Given the description of an element on the screen output the (x, y) to click on. 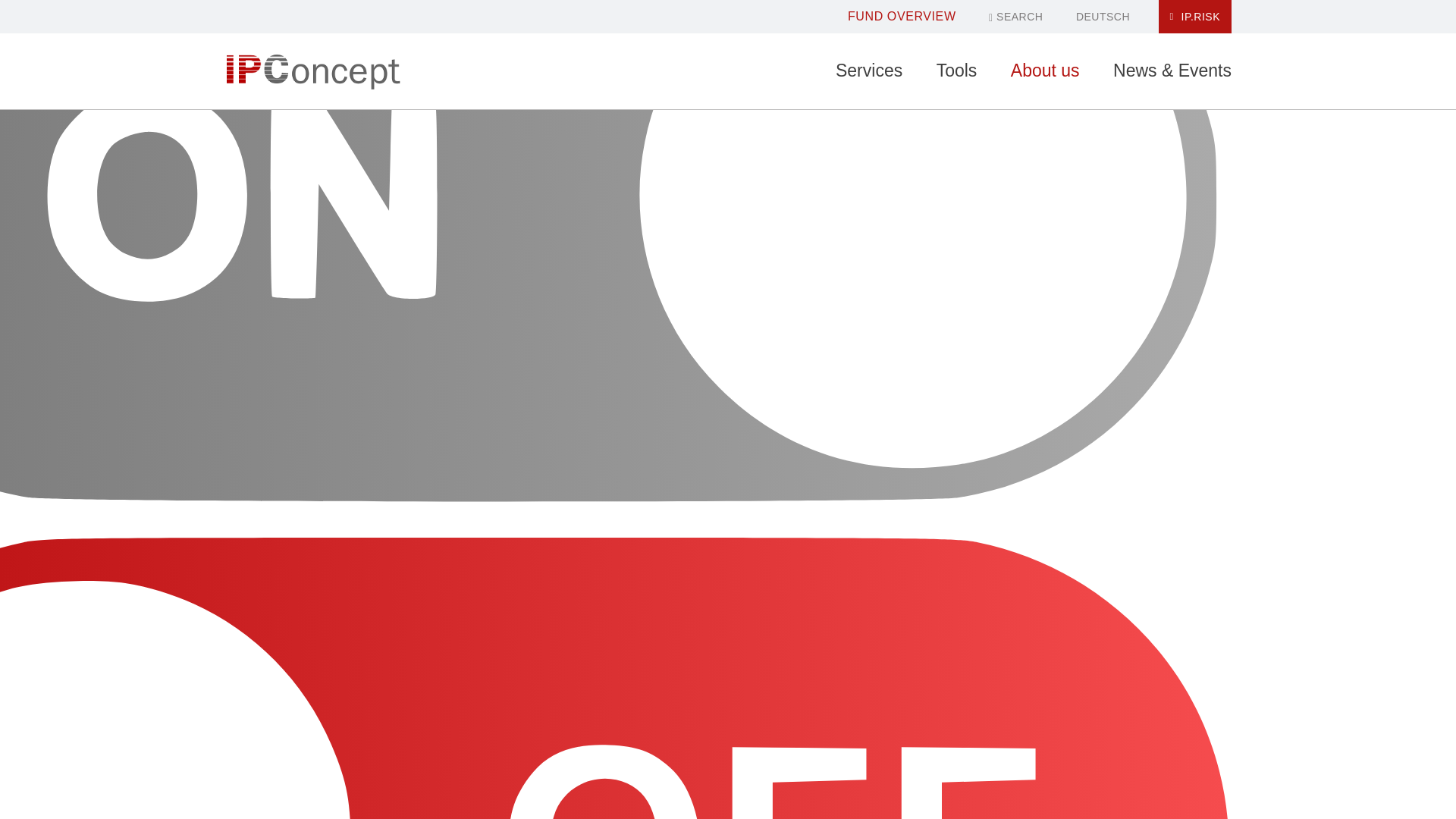
Weiterleitung zum Login-Bereich (1194, 16)
DEUTSCH (1102, 16)
FUND OVERVIEW (901, 15)
Fund Overview (901, 15)
Change language (1102, 16)
IP.RISK (1194, 16)
Logo (312, 71)
SEARCH (1015, 17)
About us (1045, 70)
About us (1045, 70)
